Given the description of an element on the screen output the (x, y) to click on. 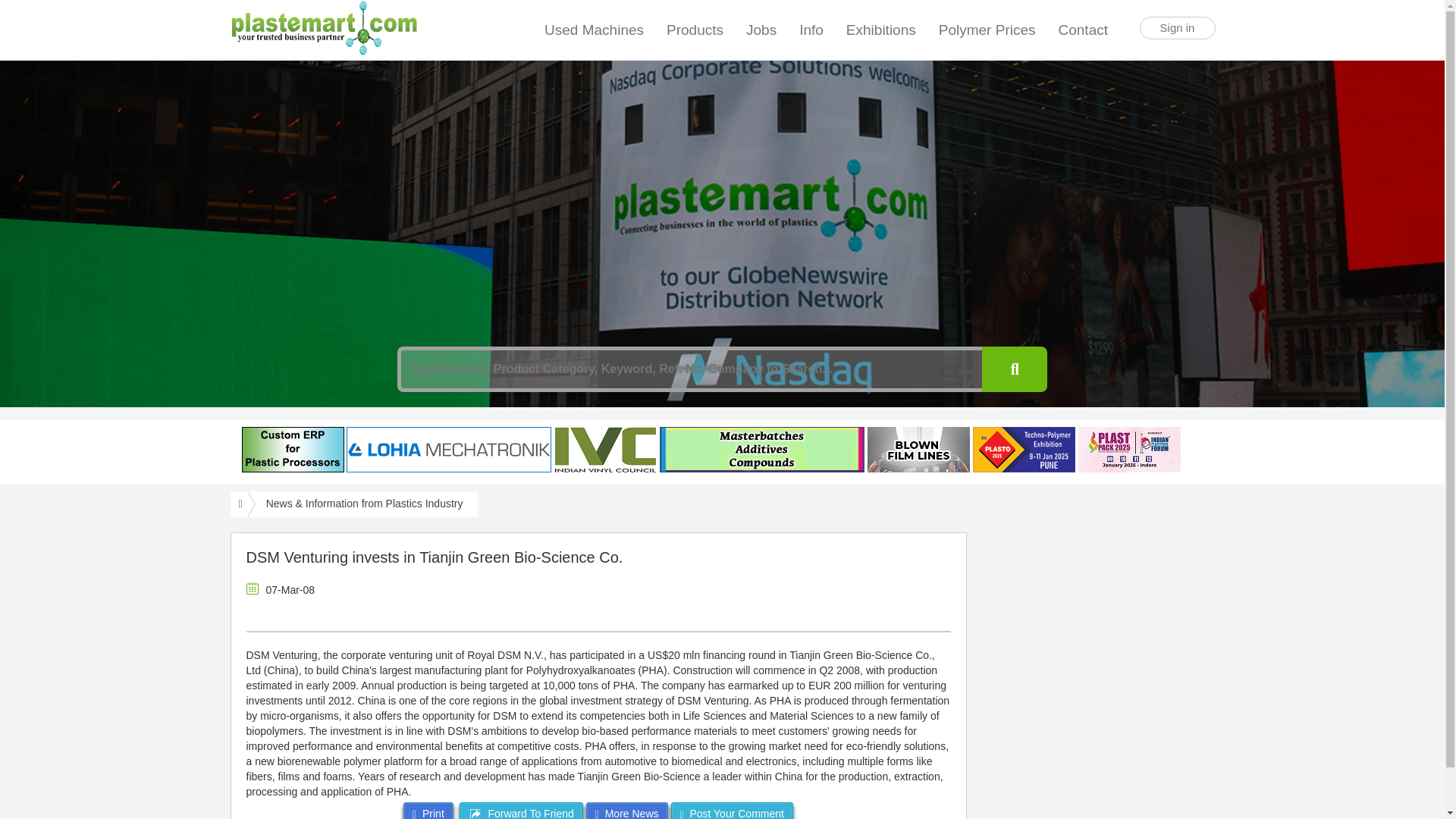
The worlds largest B2B portal for Plastics Industry (323, 28)
Contact Us (1084, 22)
Polymer Prices (986, 30)
Mamata (918, 449)
Exhibitions (880, 30)
PVC Polymer prices (986, 30)
Plasto 2025 (1023, 449)
Used Plastic Machines (593, 30)
Products (695, 30)
Lohia Mechatronik (448, 449)
Contact (1084, 22)
Plastic Machine Exhibitions (880, 30)
plasterpHome (292, 449)
Plast Pack 2025 (1129, 449)
Used Machines (593, 30)
